Given the description of an element on the screen output the (x, y) to click on. 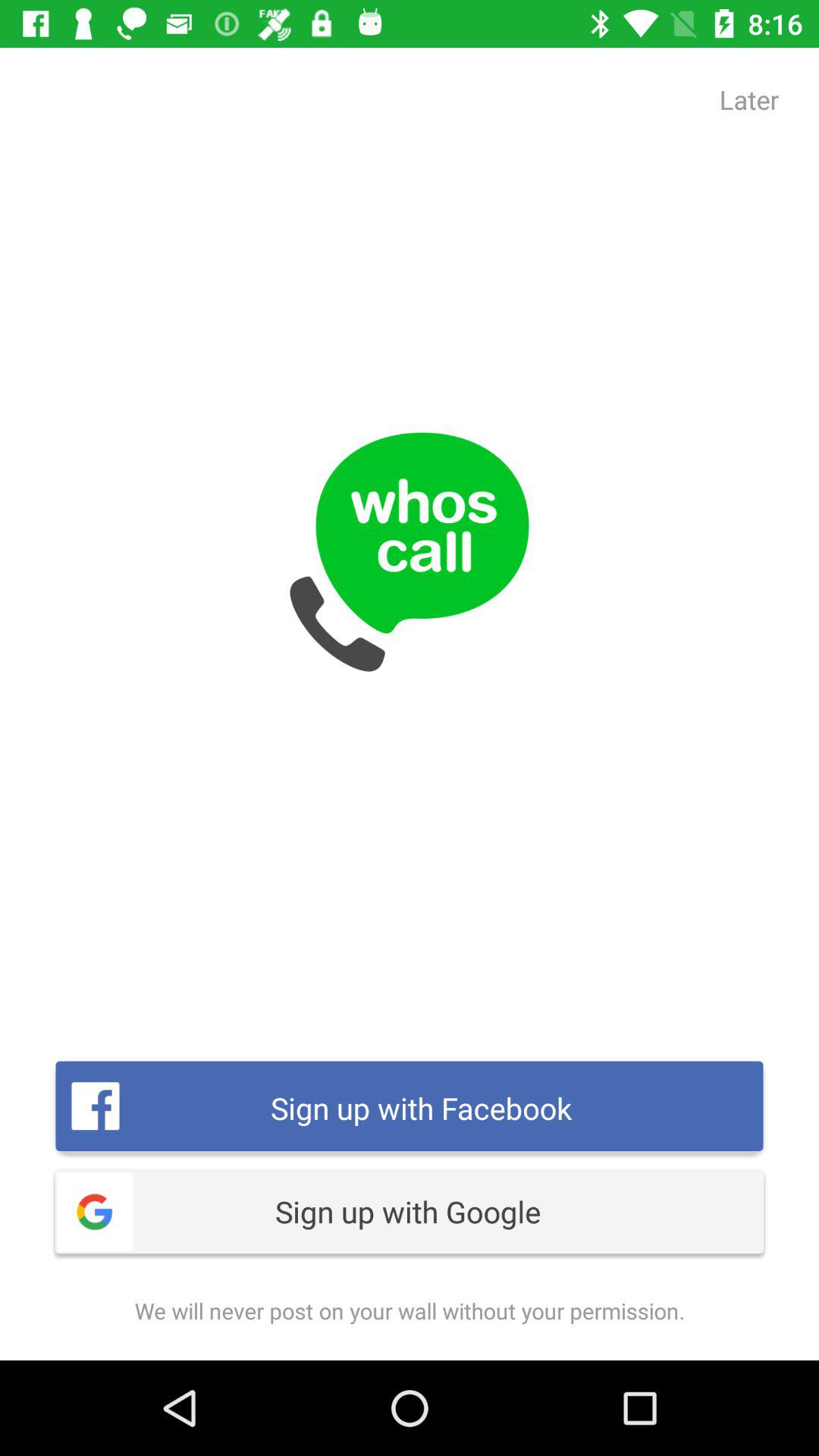
click icon at the top right corner (749, 99)
